Given the description of an element on the screen output the (x, y) to click on. 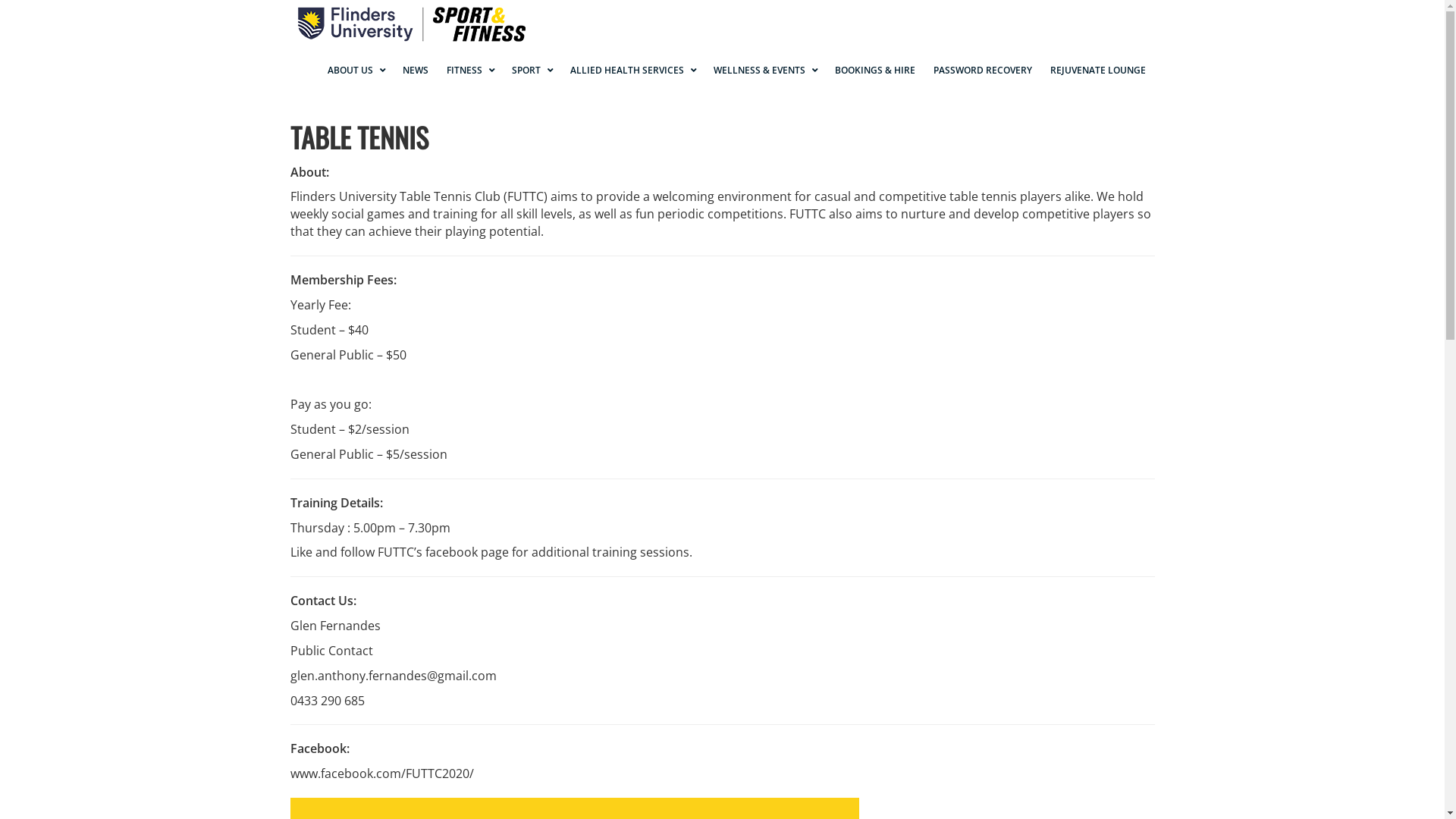
SPORT Element type: text (531, 70)
BOOKINGS & HIRE Element type: text (874, 70)
NEWS Element type: text (414, 70)
ALLIED HEALTH SERVICES Element type: text (632, 70)
FITNESS Element type: text (469, 70)
WELLNESS & EVENTS Element type: text (764, 70)
Flinders University Sport and Fitness Element type: hover (406, 22)
PASSWORD RECOVERY Element type: text (981, 70)
REJUVENATE LOUNGE Element type: text (1097, 70)
ABOUT US Element type: text (355, 70)
